Given the description of an element on the screen output the (x, y) to click on. 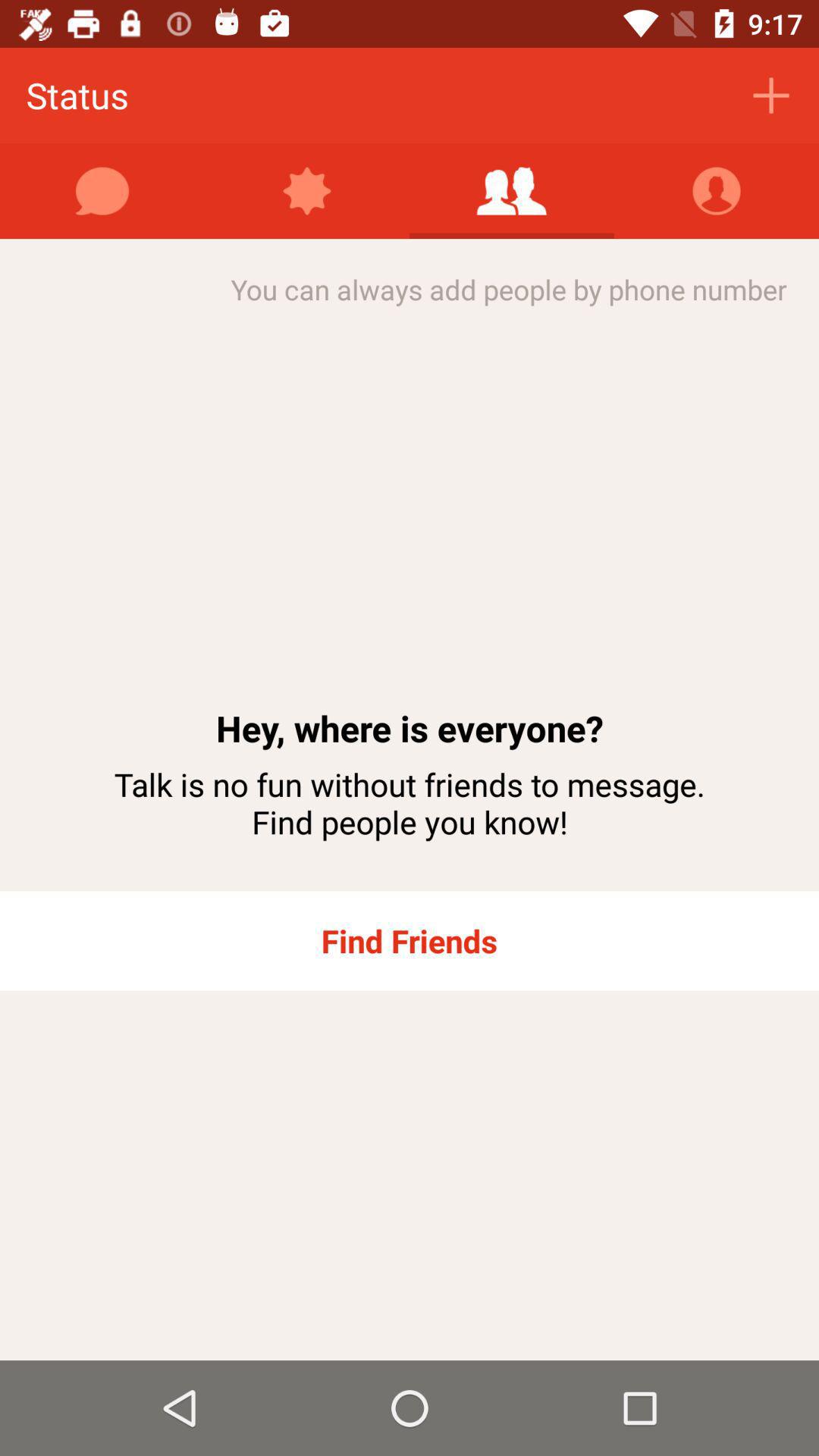
tap the item above you can always item (102, 190)
